Given the description of an element on the screen output the (x, y) to click on. 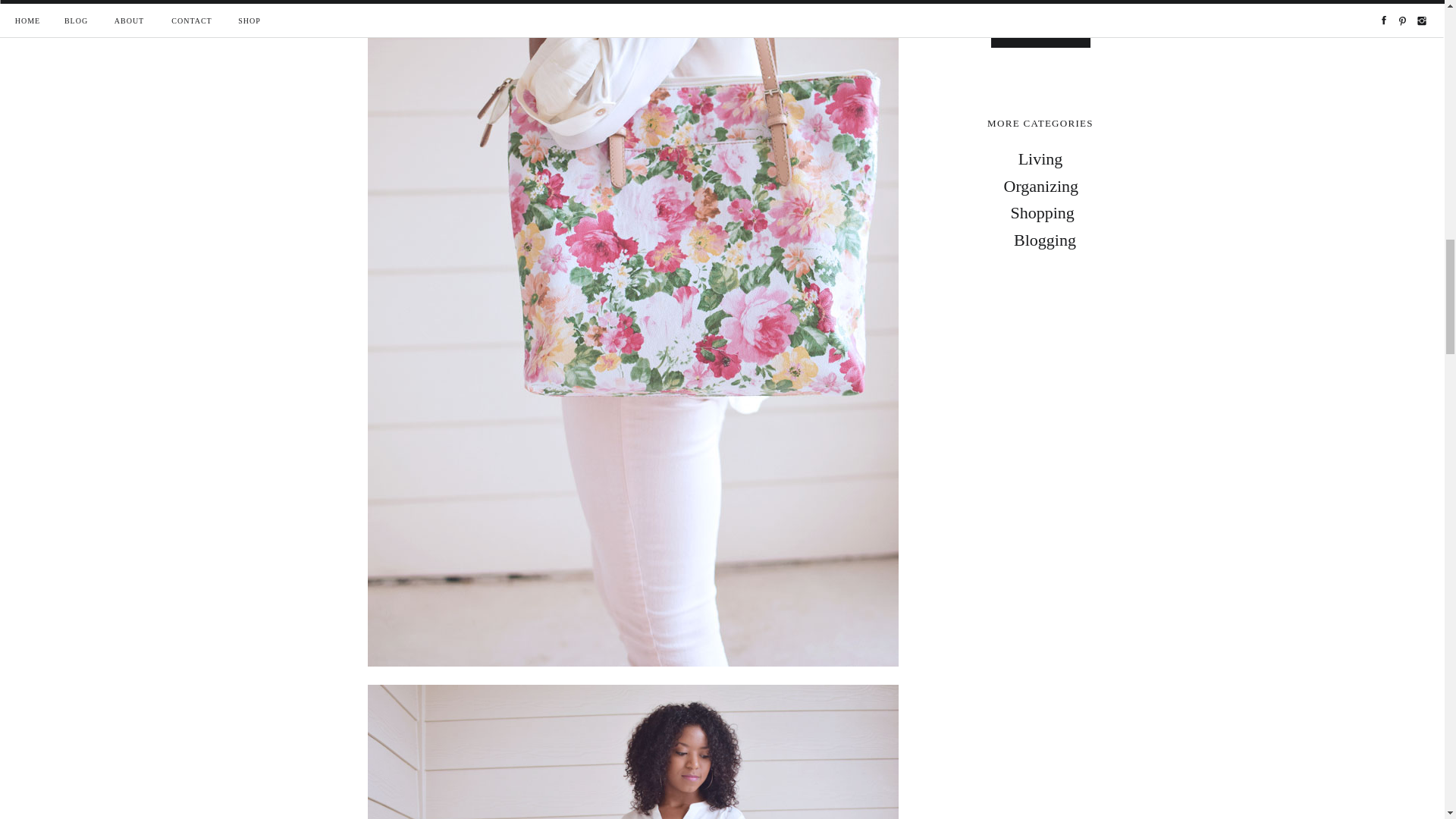
Shopping (1040, 212)
Blogging (1044, 240)
WELLNESS (1039, 29)
Organizing (1037, 186)
Living (1040, 159)
